Given the description of an element on the screen output the (x, y) to click on. 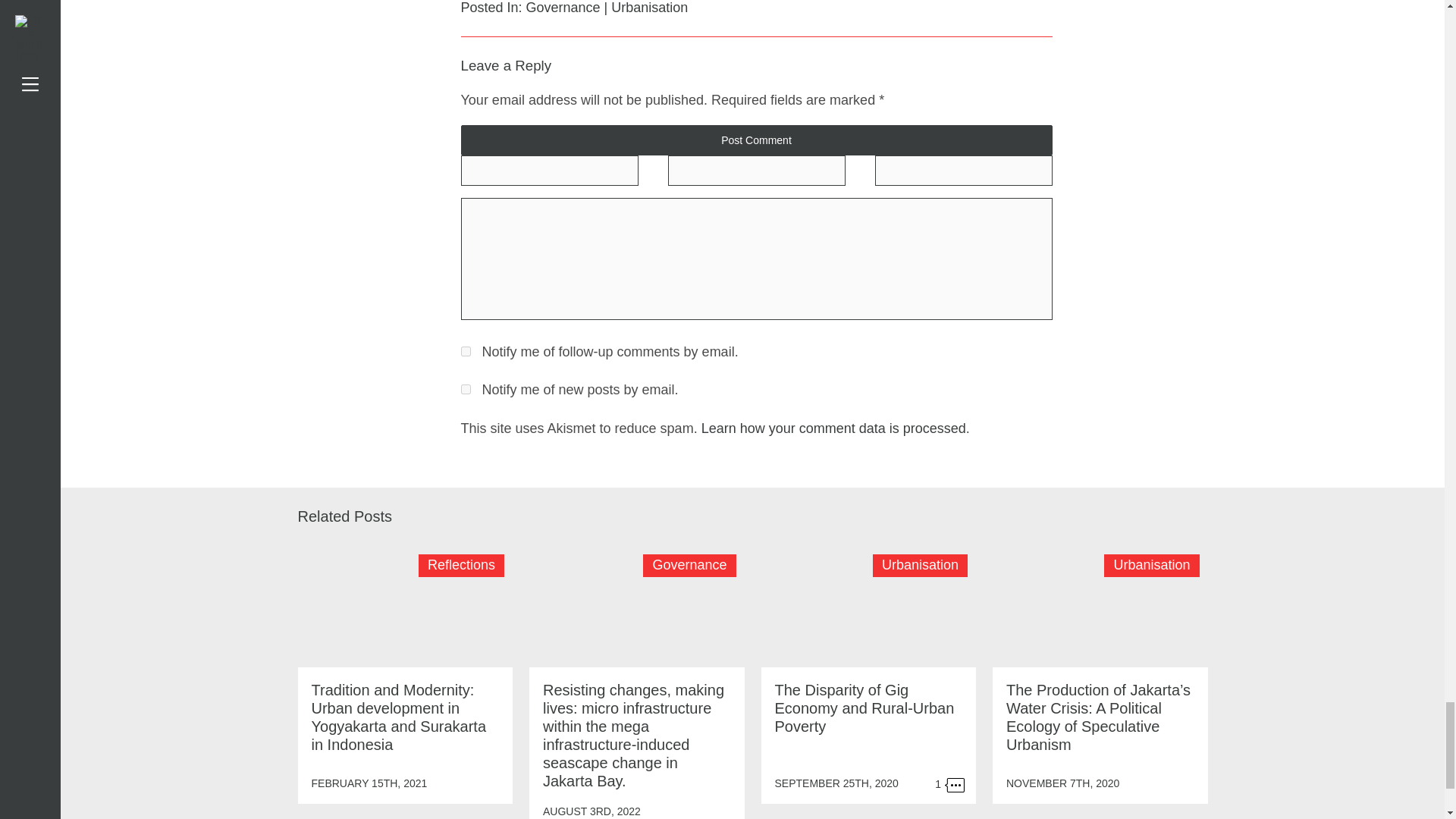
Post Comment (756, 140)
subscribe (465, 351)
subscribe (465, 388)
